Given the description of an element on the screen output the (x, y) to click on. 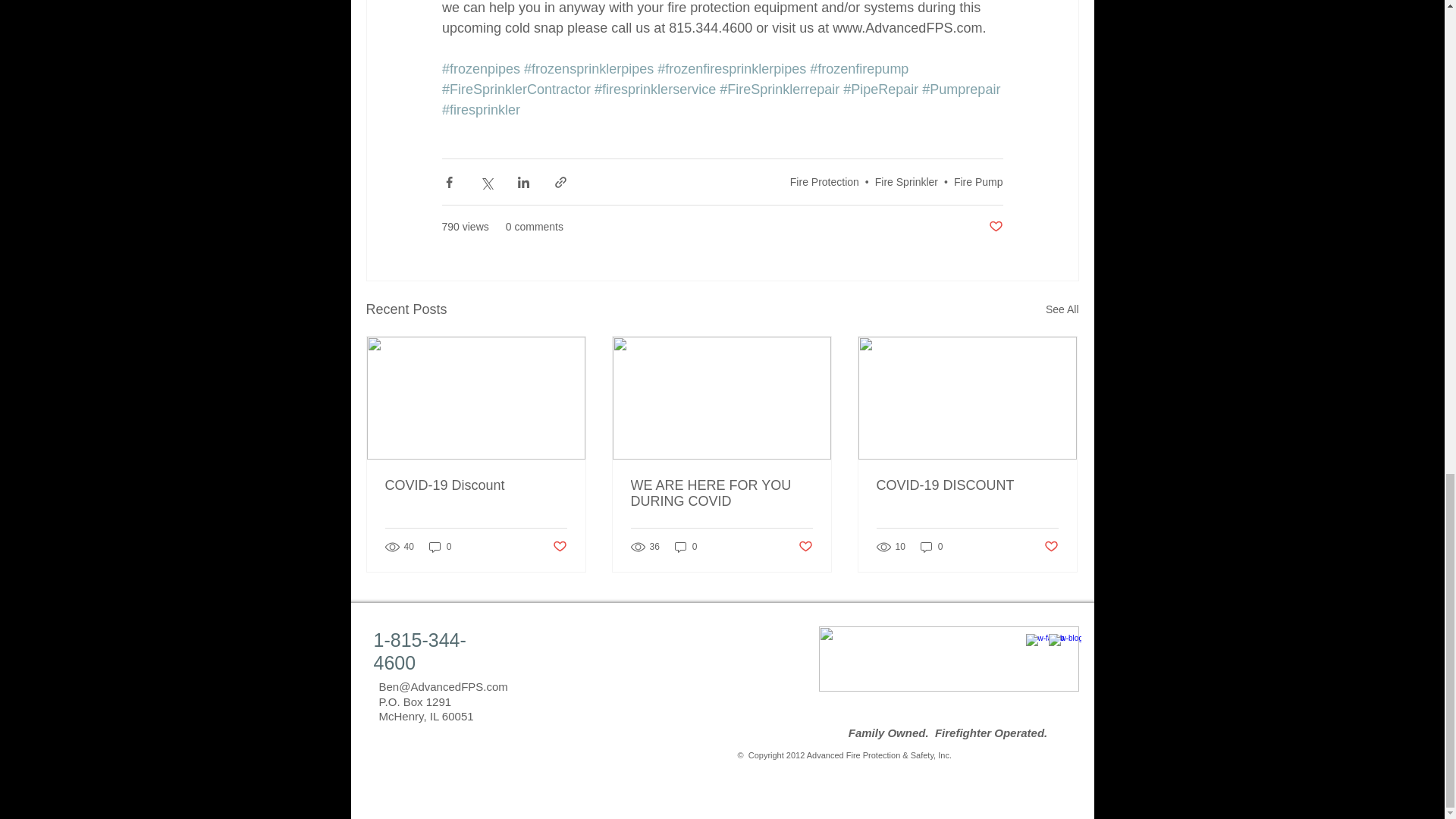
COVID-19 Discount (476, 485)
Facebook Like (467, 755)
Fire Sprinkler (906, 182)
Fire Pump (978, 182)
Post not marked as liked (995, 227)
0 (440, 546)
Fire Protection (824, 182)
Post not marked as liked (558, 546)
See All (1061, 309)
